Given the description of an element on the screen output the (x, y) to click on. 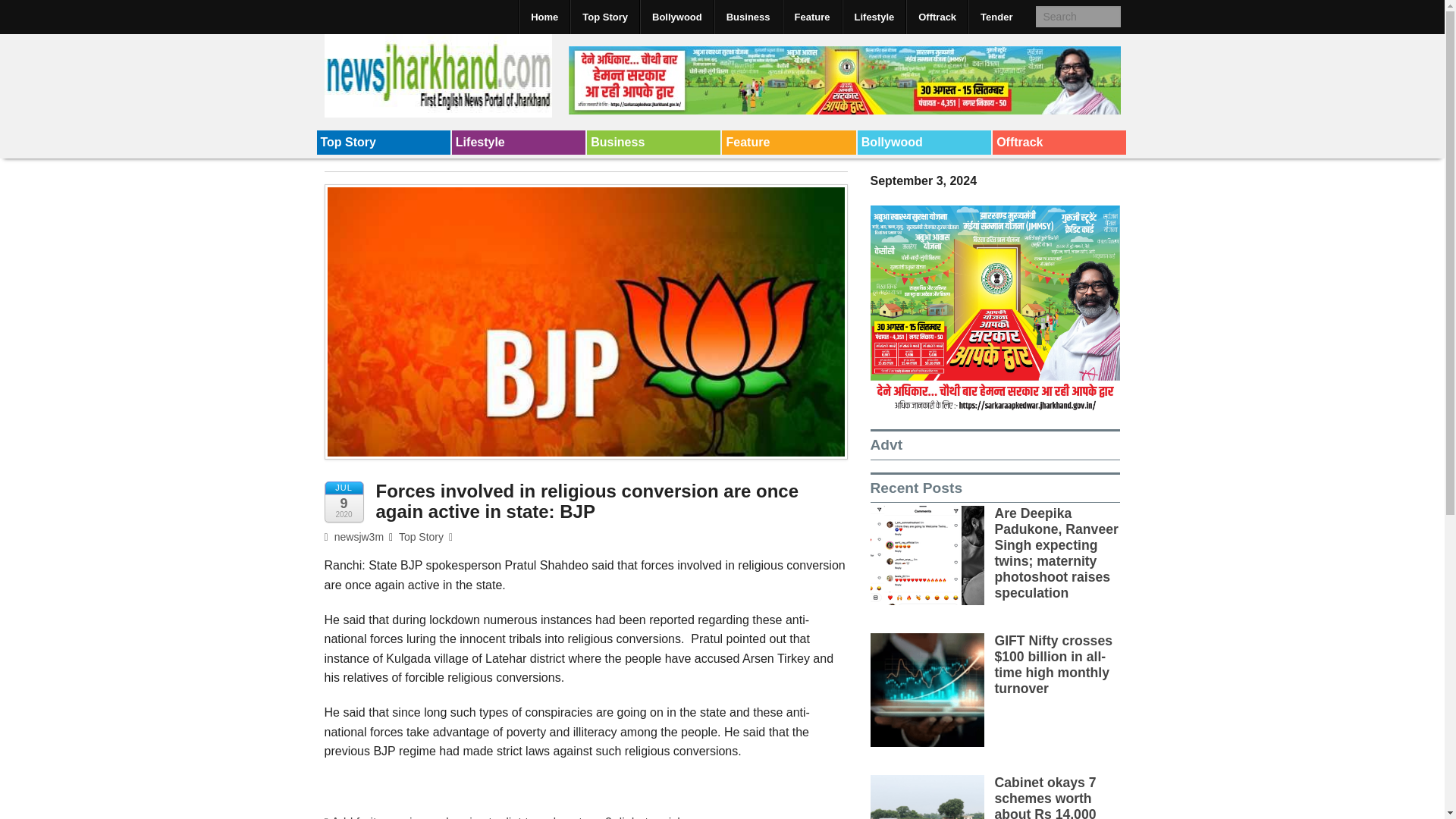
Top Story (383, 142)
Offtrack (1058, 142)
Feature (812, 17)
Top Story (421, 536)
Offtrack (937, 17)
Business (653, 142)
newsjw3m (354, 536)
Business (653, 142)
Lifestyle (518, 142)
